Given the description of an element on the screen output the (x, y) to click on. 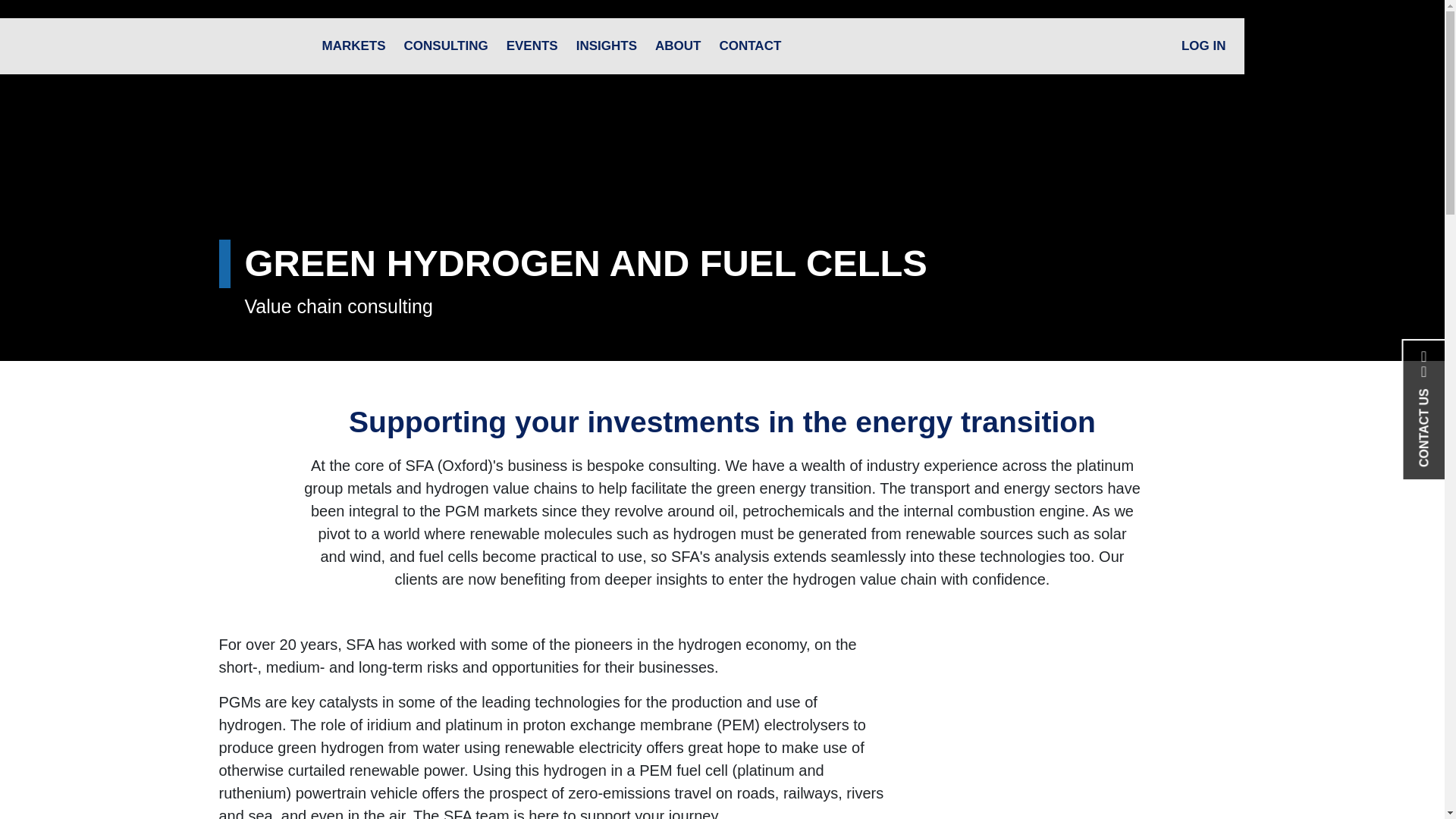
MARKETS (353, 46)
CONSULTING (445, 46)
EVENTS (531, 46)
CONTACT (749, 46)
INSIGHTS (606, 46)
